Given the description of an element on the screen output the (x, y) to click on. 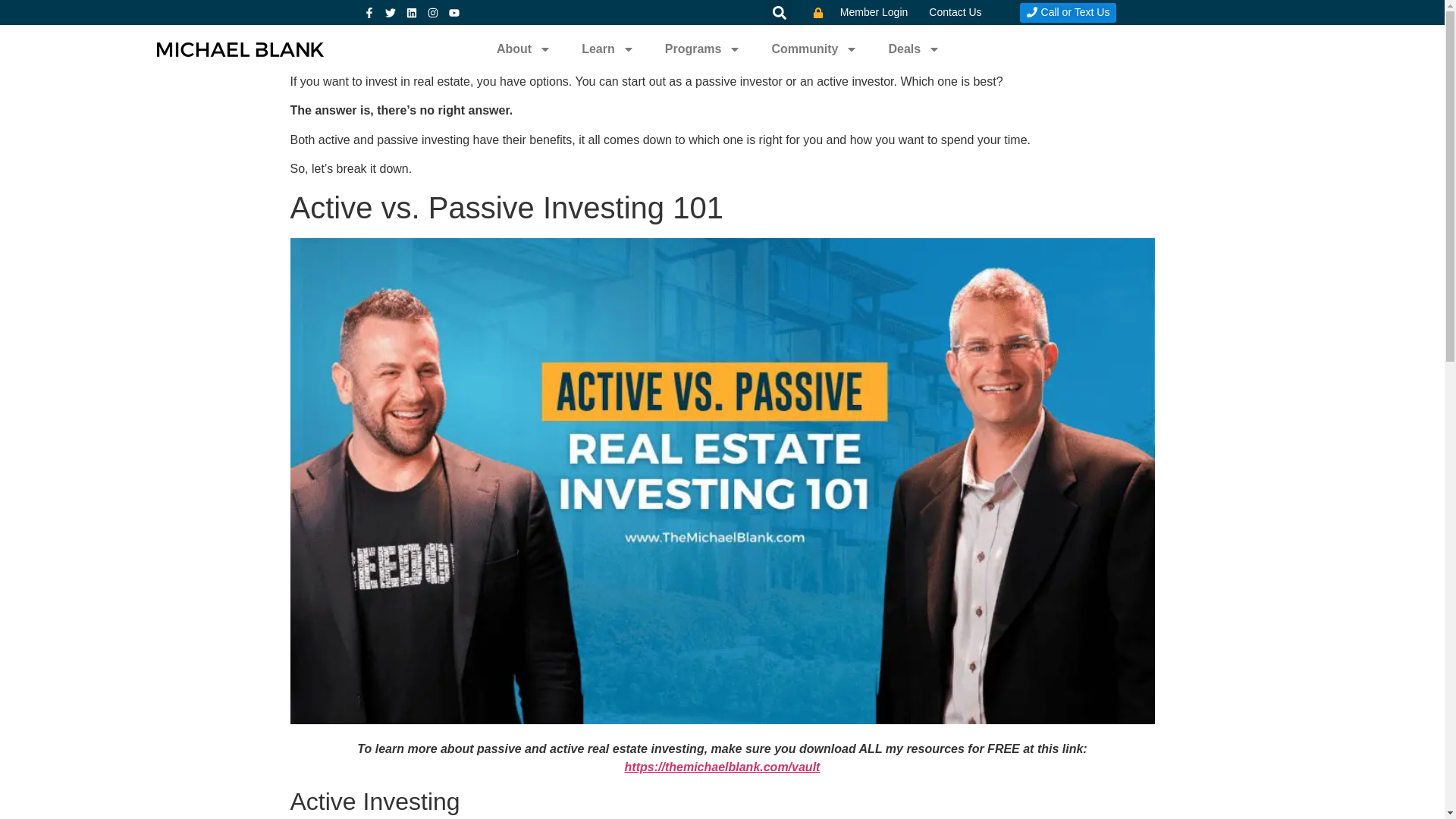
Call or Text Us (1068, 12)
Contact Us (954, 12)
Deals (913, 48)
About (523, 48)
Community (813, 48)
Member Login (859, 12)
Learn (607, 48)
Programs (703, 48)
